Given the description of an element on the screen output the (x, y) to click on. 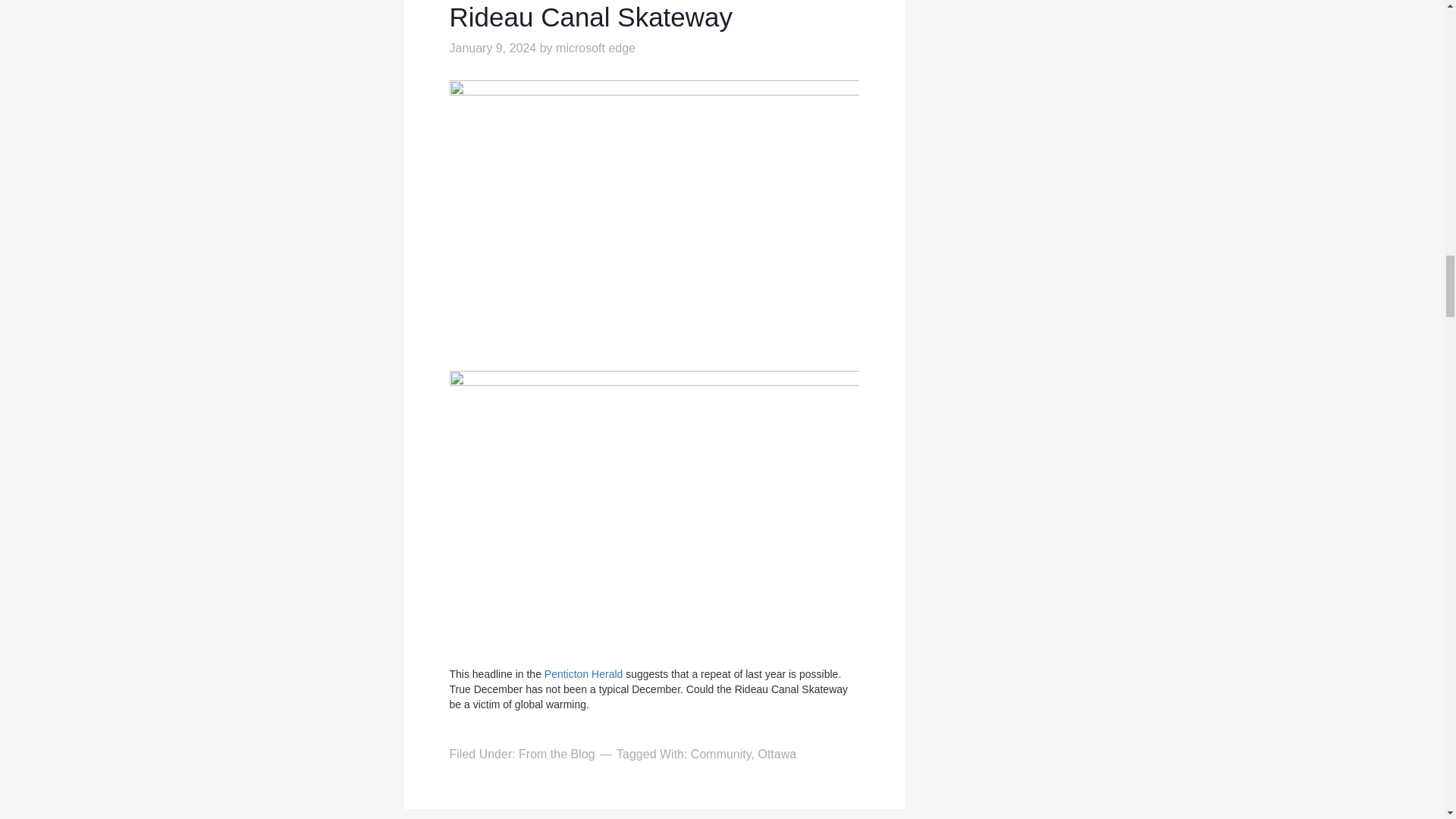
From the Blog (556, 753)
Community (720, 753)
microsoft edge (595, 47)
Penticton Herald (583, 674)
Rideau Canal Skateway (590, 16)
